Given the description of an element on the screen output the (x, y) to click on. 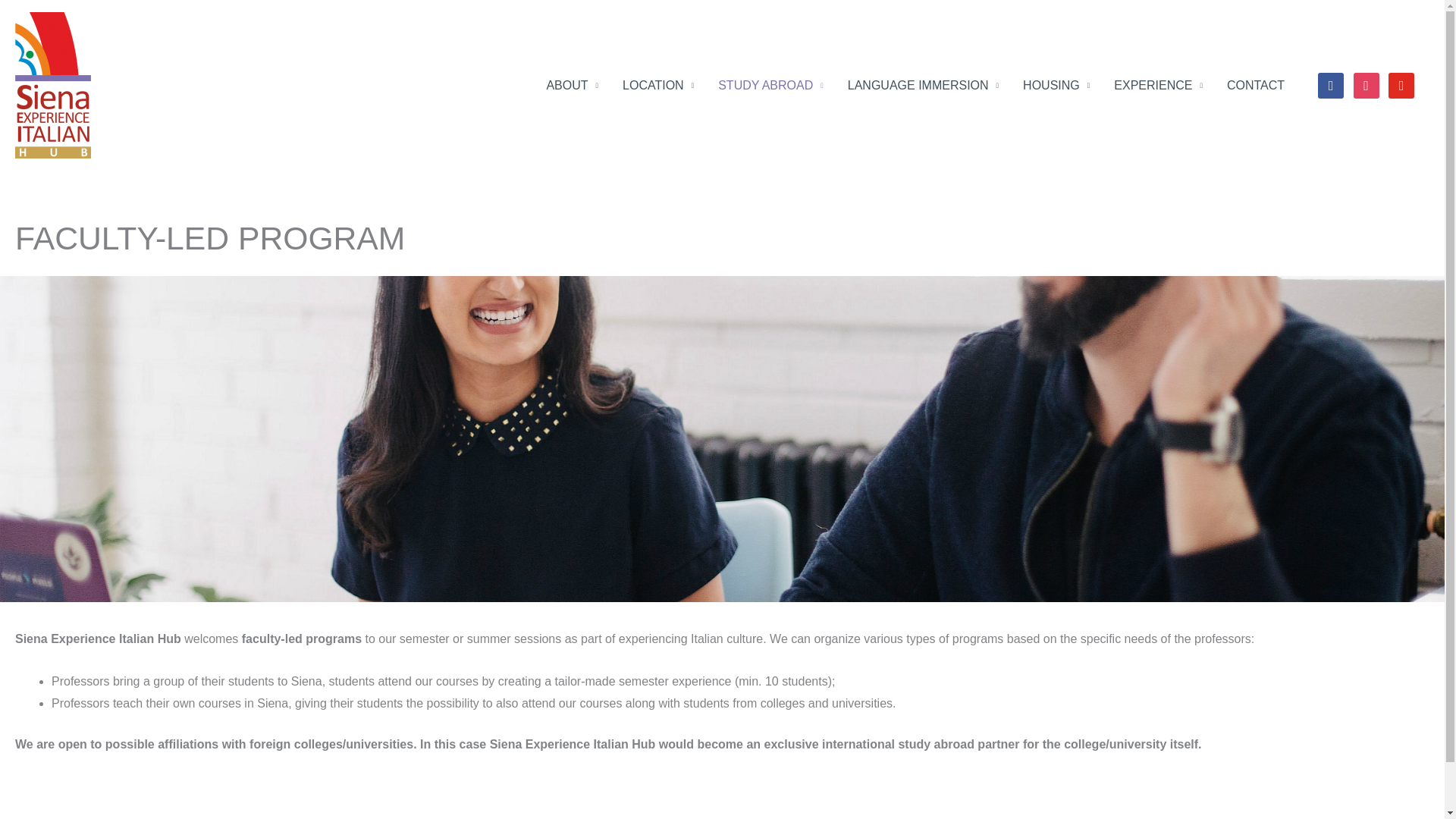
HOUSING (1056, 84)
LANGUAGE IMMERSION (922, 84)
LOCATION (658, 84)
Default Label (1401, 85)
ABOUT (572, 84)
EXPERIENCE (1158, 84)
CONTACT (1255, 84)
youtube (1401, 85)
STUDY ABROAD (770, 84)
facebook (1330, 85)
